Given the description of an element on the screen output the (x, y) to click on. 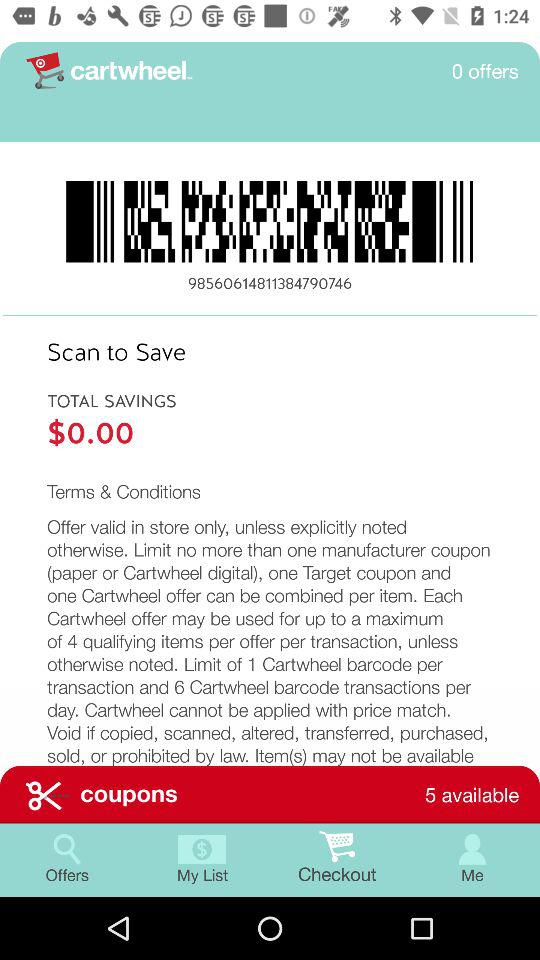
flip until the 98560614811384790746 icon (269, 283)
